Given the description of an element on the screen output the (x, y) to click on. 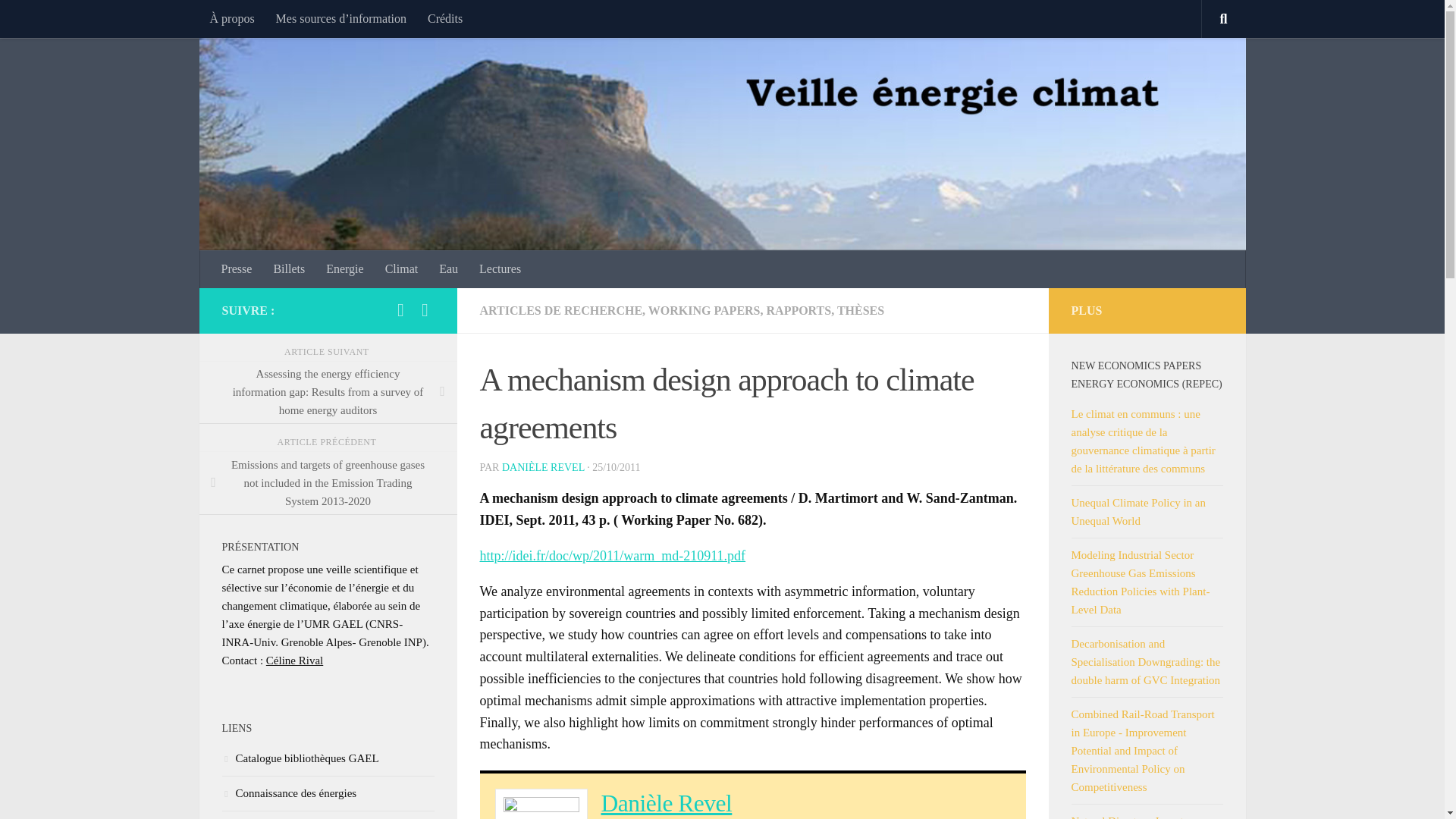
Skip to content (59, 20)
Eau (448, 269)
Presse (237, 269)
Billets (288, 269)
Lectures (499, 269)
Climat (401, 269)
Energie (344, 269)
